Given the description of an element on the screen output the (x, y) to click on. 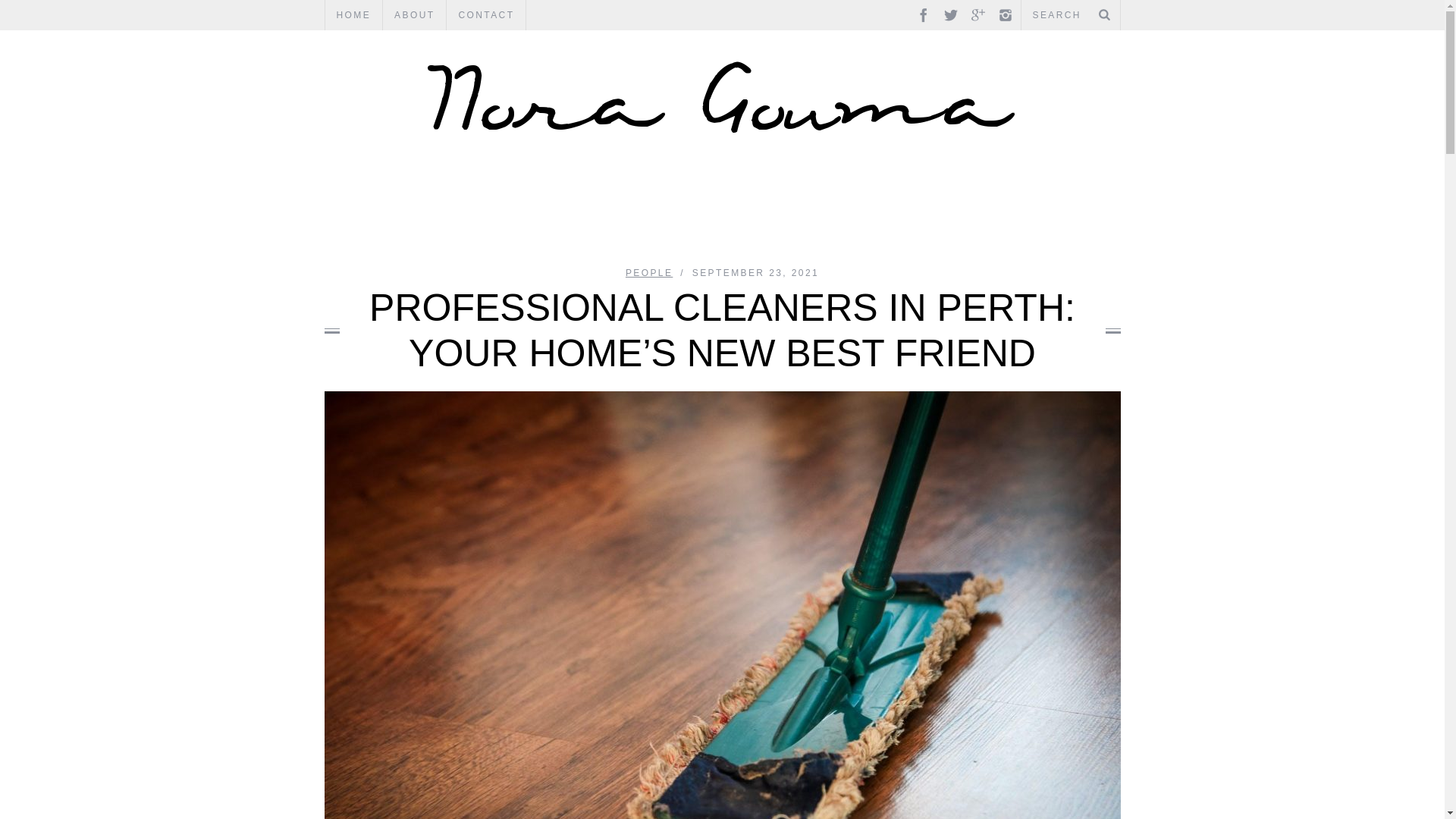
CONTACT (485, 14)
 -  (722, 96)
HOME (352, 14)
ABOUT (413, 14)
Search (1070, 15)
